Given the description of an element on the screen output the (x, y) to click on. 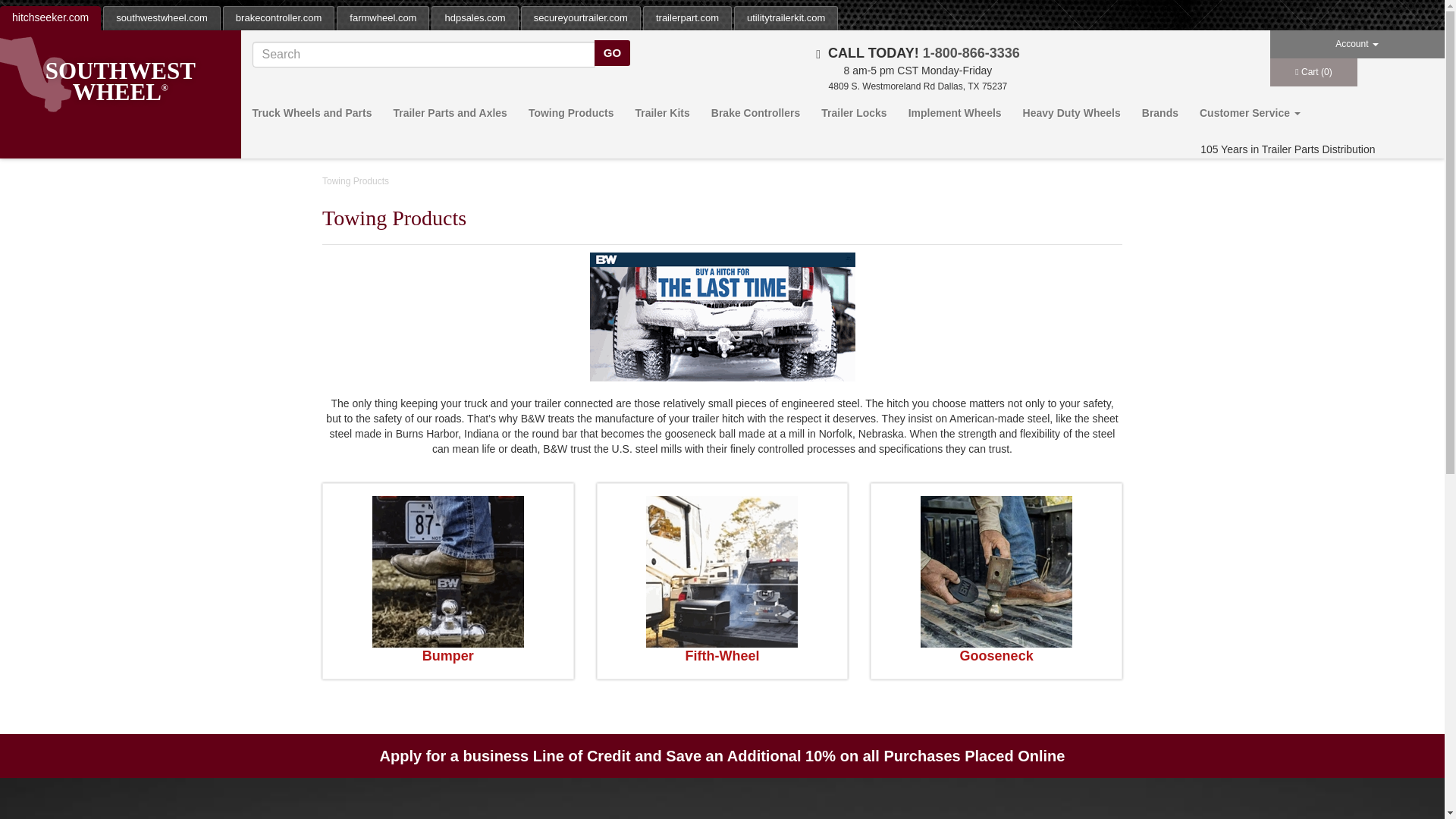
Account (1356, 44)
Go (612, 53)
hitchseeker.com (49, 17)
brakecontroller.com (278, 17)
hdpsales.com (474, 17)
Trailer Parts and Axles (448, 113)
Go (612, 53)
HitchSeeker.com (120, 92)
Truck Wheels and Parts (311, 113)
southwestwheel.com (162, 17)
